Given the description of an element on the screen output the (x, y) to click on. 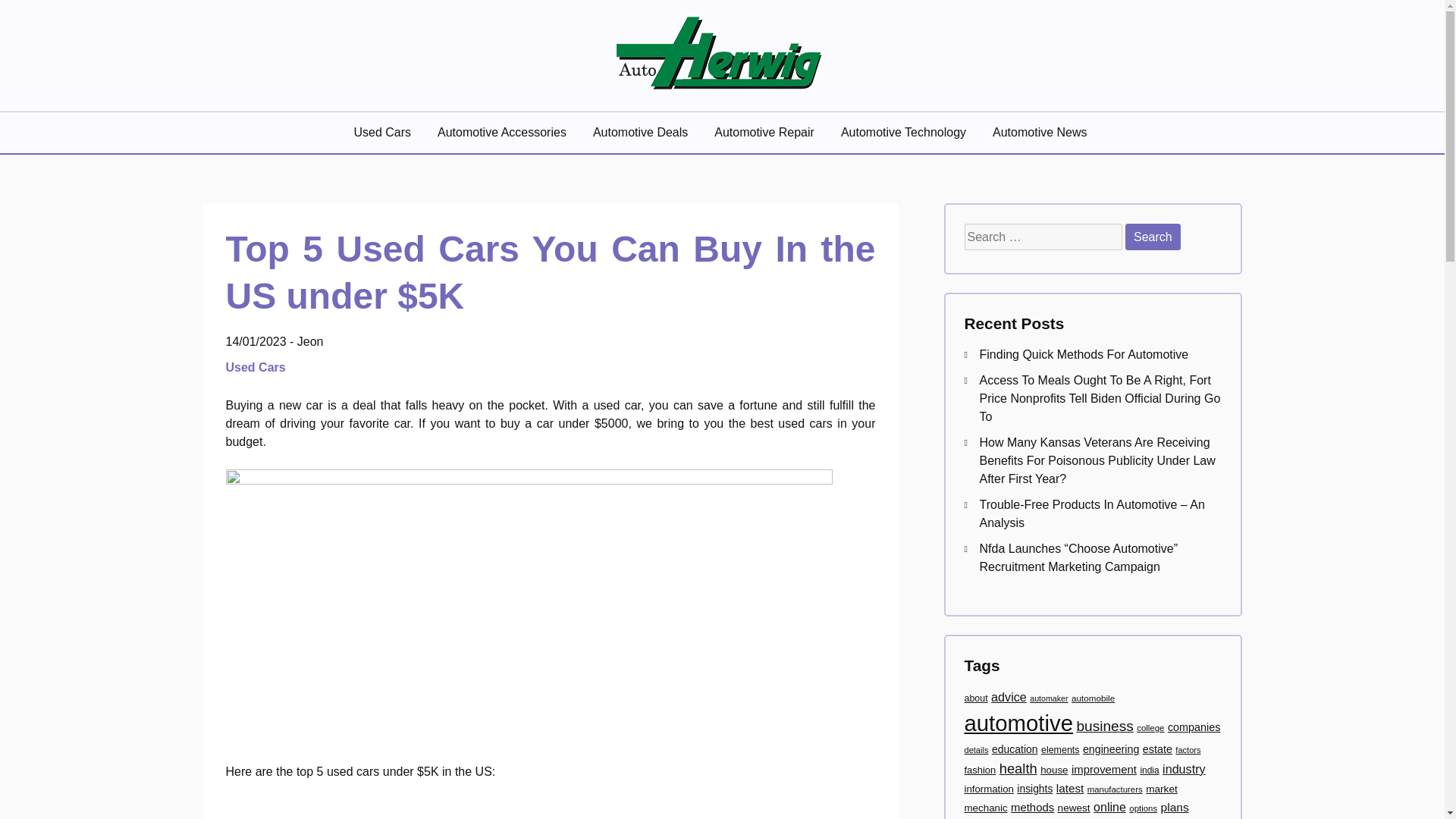
automaker (1048, 697)
companies (1193, 727)
Automotive Technology (905, 132)
automotive (1018, 722)
automobile (1093, 697)
Used Cars (257, 367)
Used Cars (384, 132)
Automotive Deals (641, 132)
advice (1008, 696)
Jeon (310, 341)
Search (1152, 236)
college (1150, 727)
education (1014, 748)
Automotive Repair (766, 132)
